Given the description of an element on the screen output the (x, y) to click on. 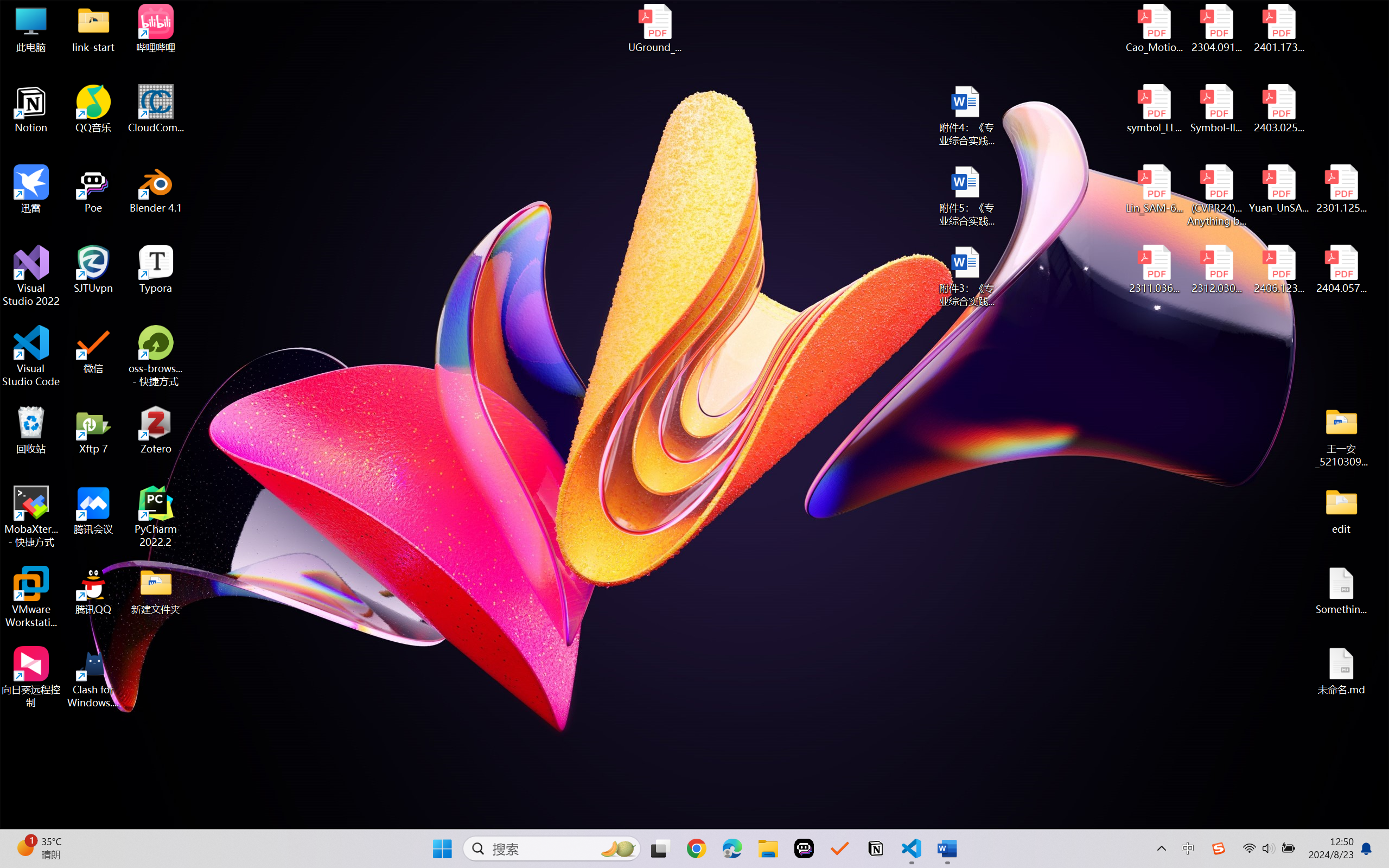
2404.05719v1.pdf (1340, 269)
Xftp 7 (93, 430)
Blender 4.1 (156, 189)
CloudCompare (156, 109)
PyCharm 2022.2 (156, 516)
